Given the description of an element on the screen output the (x, y) to click on. 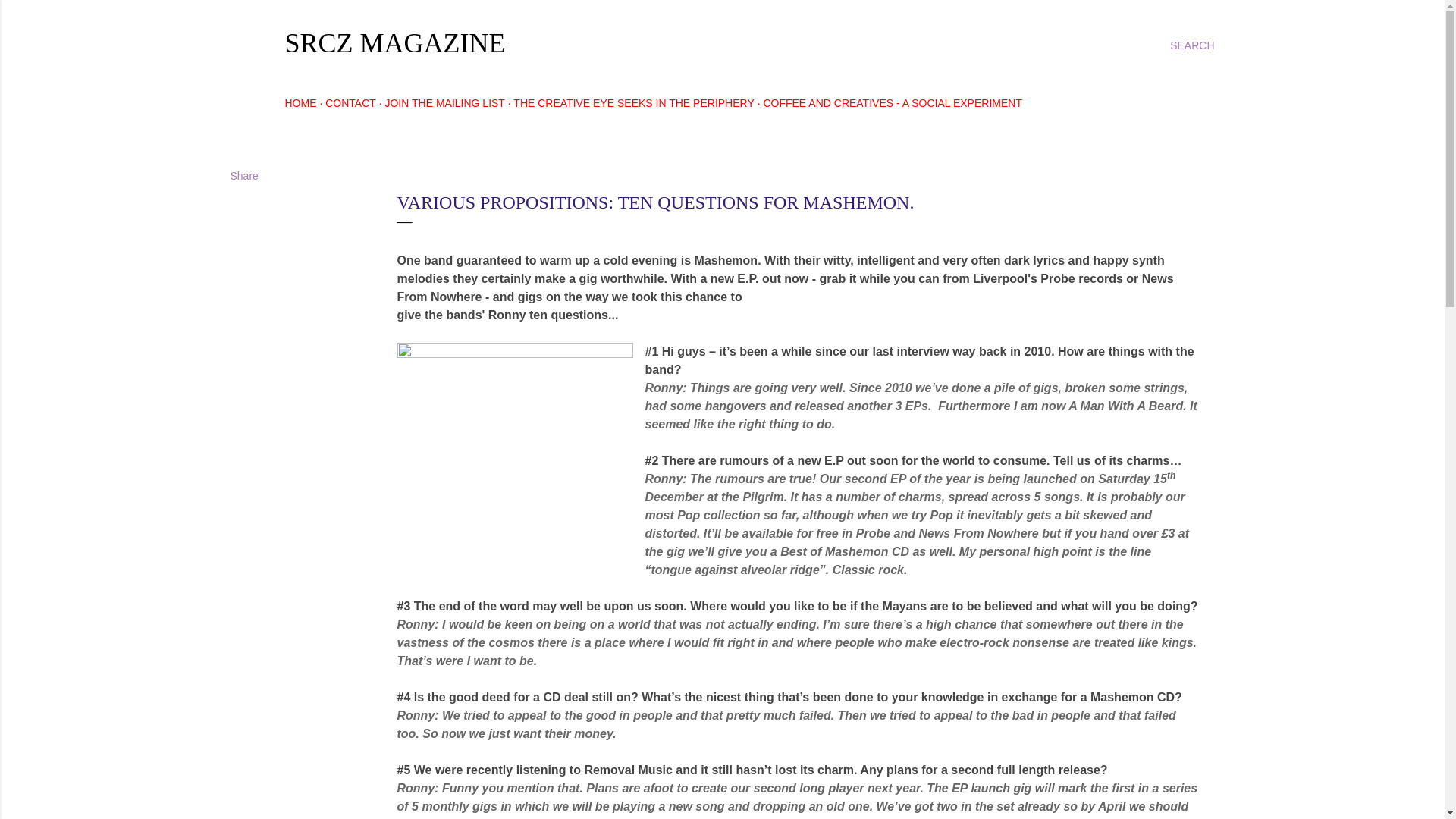
SEARCH (1192, 45)
COFFEE AND CREATIVES - A SOCIAL EXPERIMENT (892, 102)
December 14, 2012 (437, 174)
SRCZ MAGAZINE (395, 42)
HOME (301, 102)
permanent link (437, 174)
Share (244, 175)
JOIN THE MAILING LIST (443, 102)
CONTACT (349, 102)
THE CREATIVE EYE SEEKS IN THE PERIPHERY (633, 102)
